Given the description of an element on the screen output the (x, y) to click on. 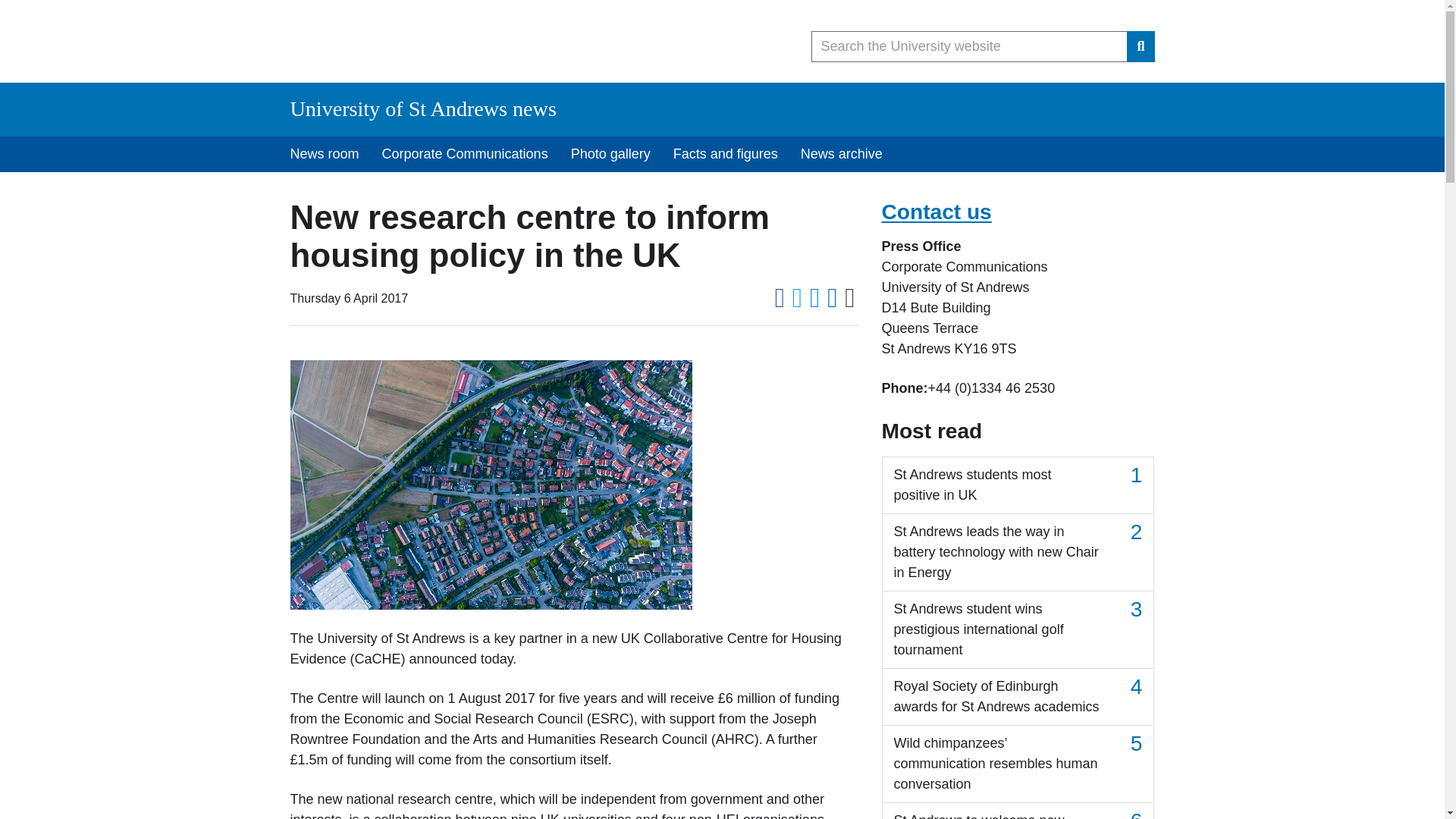
St Andrews students most positive in UK (1017, 485)
Photo gallery (610, 153)
Corporate Communications (465, 153)
University of St Andrews news (422, 108)
Contact us (935, 211)
News archive (841, 153)
Facts and figures (725, 153)
News room (325, 153)
